Given the description of an element on the screen output the (x, y) to click on. 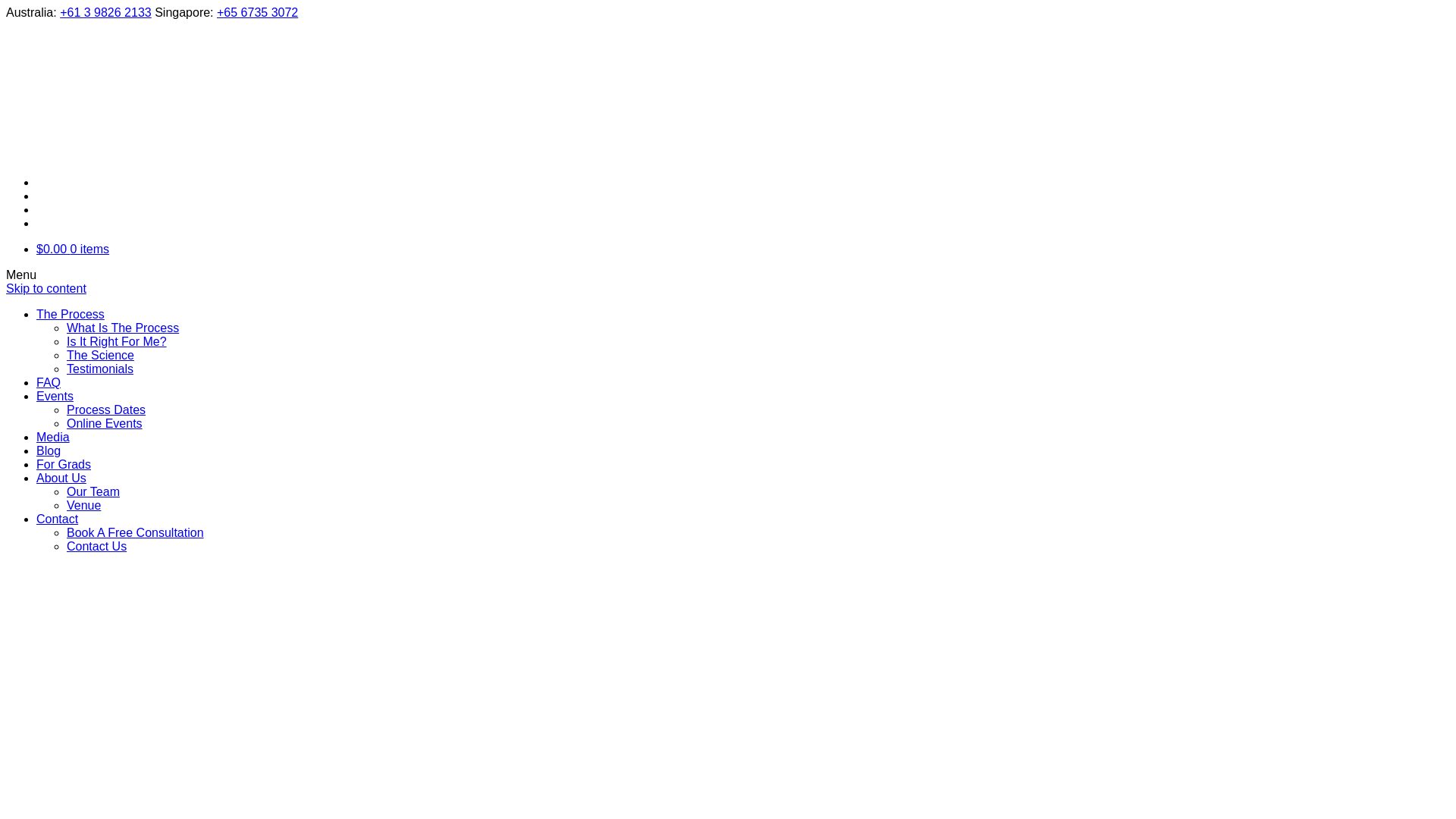
+61 3 9826 2133 Element type: text (105, 12)
Online Events Element type: text (104, 423)
Events Element type: text (54, 395)
Skip to content Element type: text (46, 288)
$0.00 0 items Element type: text (72, 248)
Our Team Element type: text (92, 491)
+65 6735 3072 Element type: text (257, 12)
Testimonials Element type: text (99, 368)
Hoffman Process Australia Element type: hover (91, 156)
The Science Element type: text (100, 354)
Process Dates Element type: text (105, 409)
Contact Us Element type: text (96, 545)
Is It Right For Me? Element type: text (116, 341)
Blog Element type: text (48, 450)
Book A Free Consultation Element type: text (134, 532)
Contact Element type: text (57, 518)
What Is The Process Element type: text (122, 327)
The Process Element type: text (70, 313)
For Grads Element type: text (63, 464)
Hoffman Process Australia Element type: hover (119, 109)
Media Element type: text (52, 436)
About Us Element type: text (61, 477)
Venue Element type: text (83, 504)
FAQ Element type: text (48, 382)
